Given the description of an element on the screen output the (x, y) to click on. 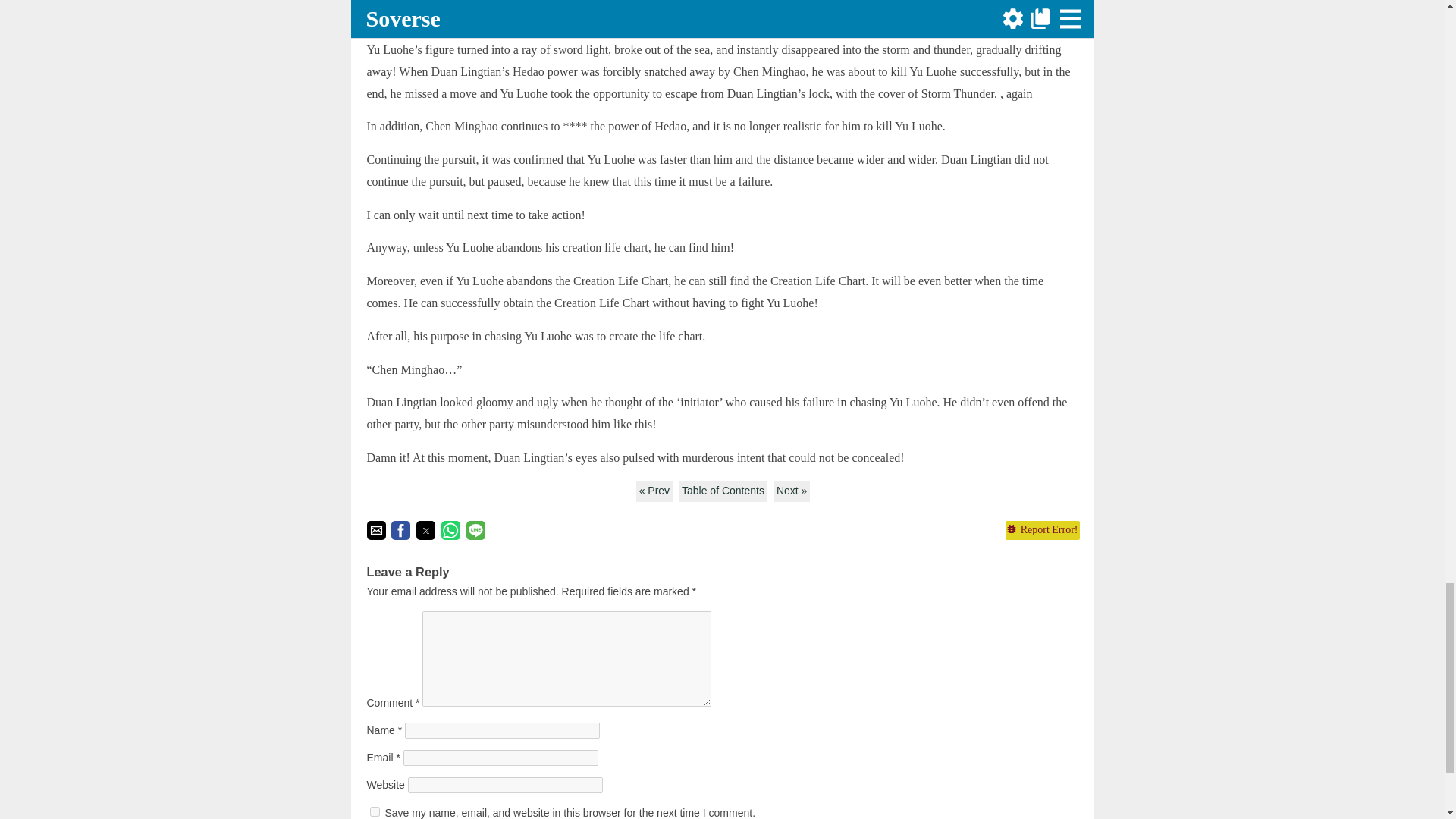
Report Error! (1041, 529)
Table of Contents (722, 491)
yes (374, 811)
